Given the description of an element on the screen output the (x, y) to click on. 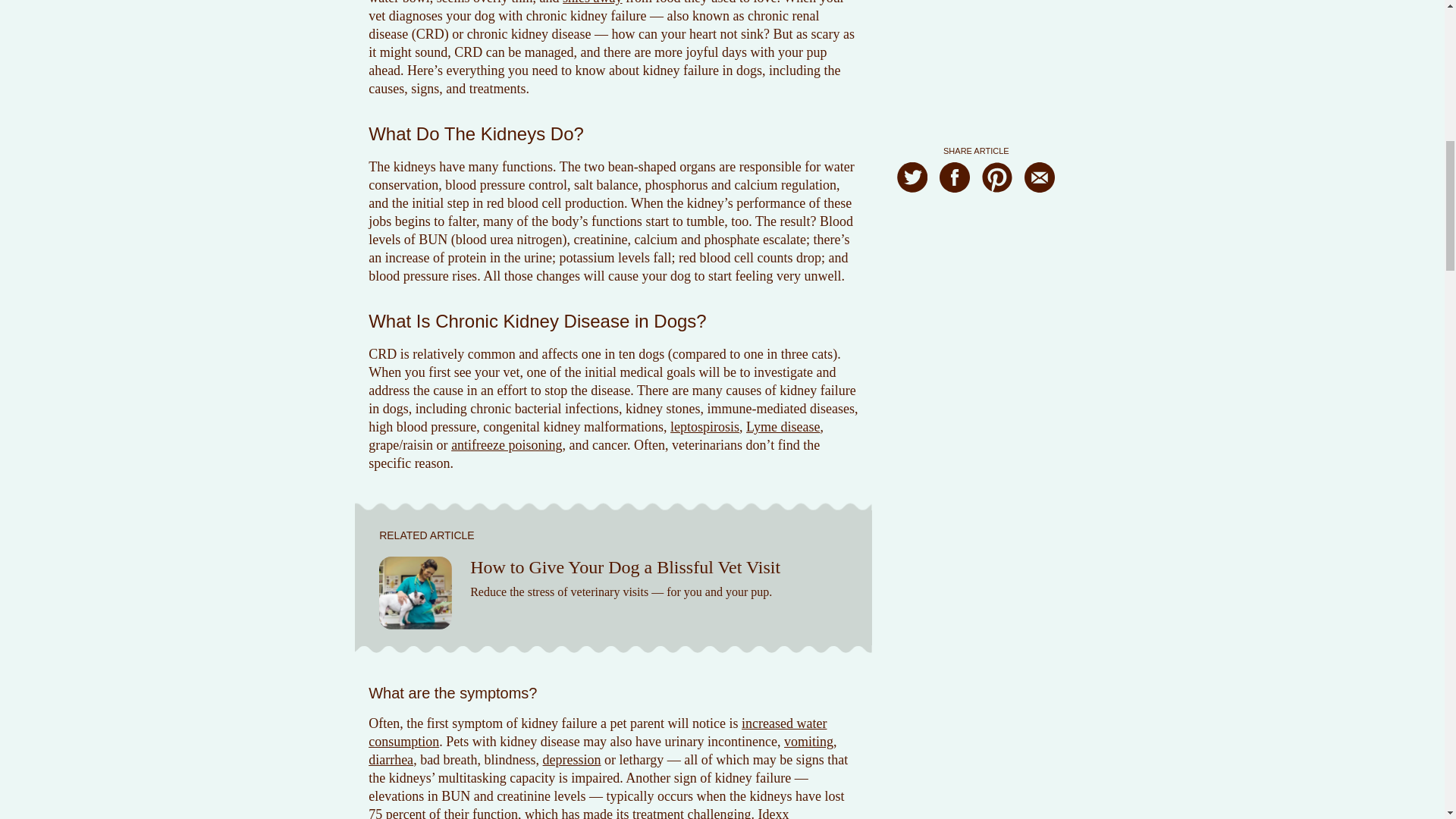
vomiting (808, 741)
Pinterest (996, 9)
Twitter (912, 9)
Twitter (911, 8)
shies away (591, 2)
Email (1039, 9)
Pinterest (996, 8)
How to Give Your Dog a Blissful Vet Visit (625, 567)
Facebook (954, 9)
increased water consumption (597, 732)
antifreeze poisoning (506, 444)
leptospirosis (704, 426)
Lyme disease (782, 426)
diarrhea (390, 759)
Email (1039, 8)
